Given the description of an element on the screen output the (x, y) to click on. 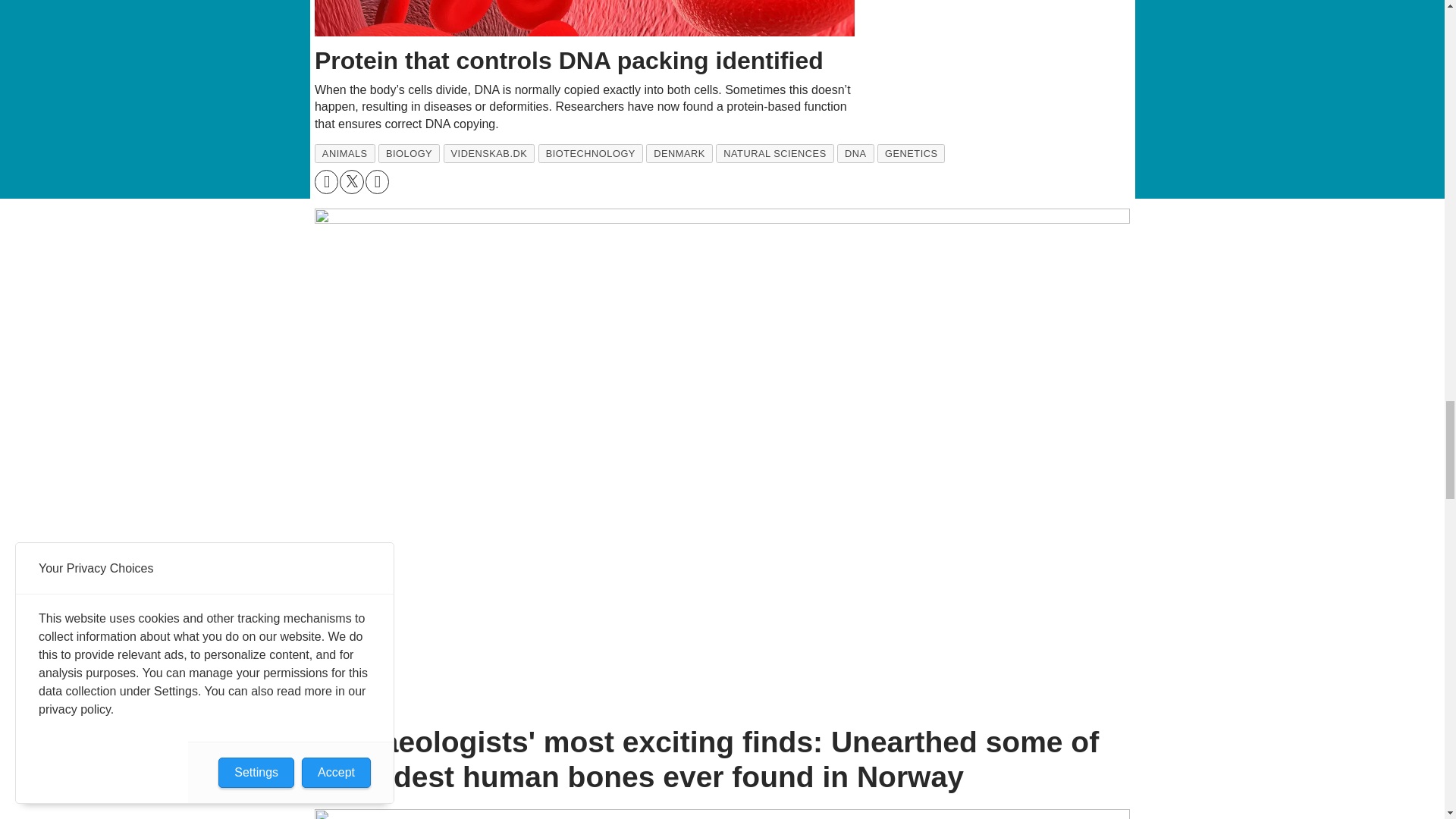
DNA (855, 153)
DENMARK (678, 153)
VIDENSKAB.DK (489, 153)
ANIMALS (344, 153)
Protein that controls DNA packing identified (585, 18)
BIOTECHNOLOGY (590, 153)
GENETICS (910, 153)
NATURAL SCIENCES (774, 153)
BIOLOGY (408, 153)
